Given the description of an element on the screen output the (x, y) to click on. 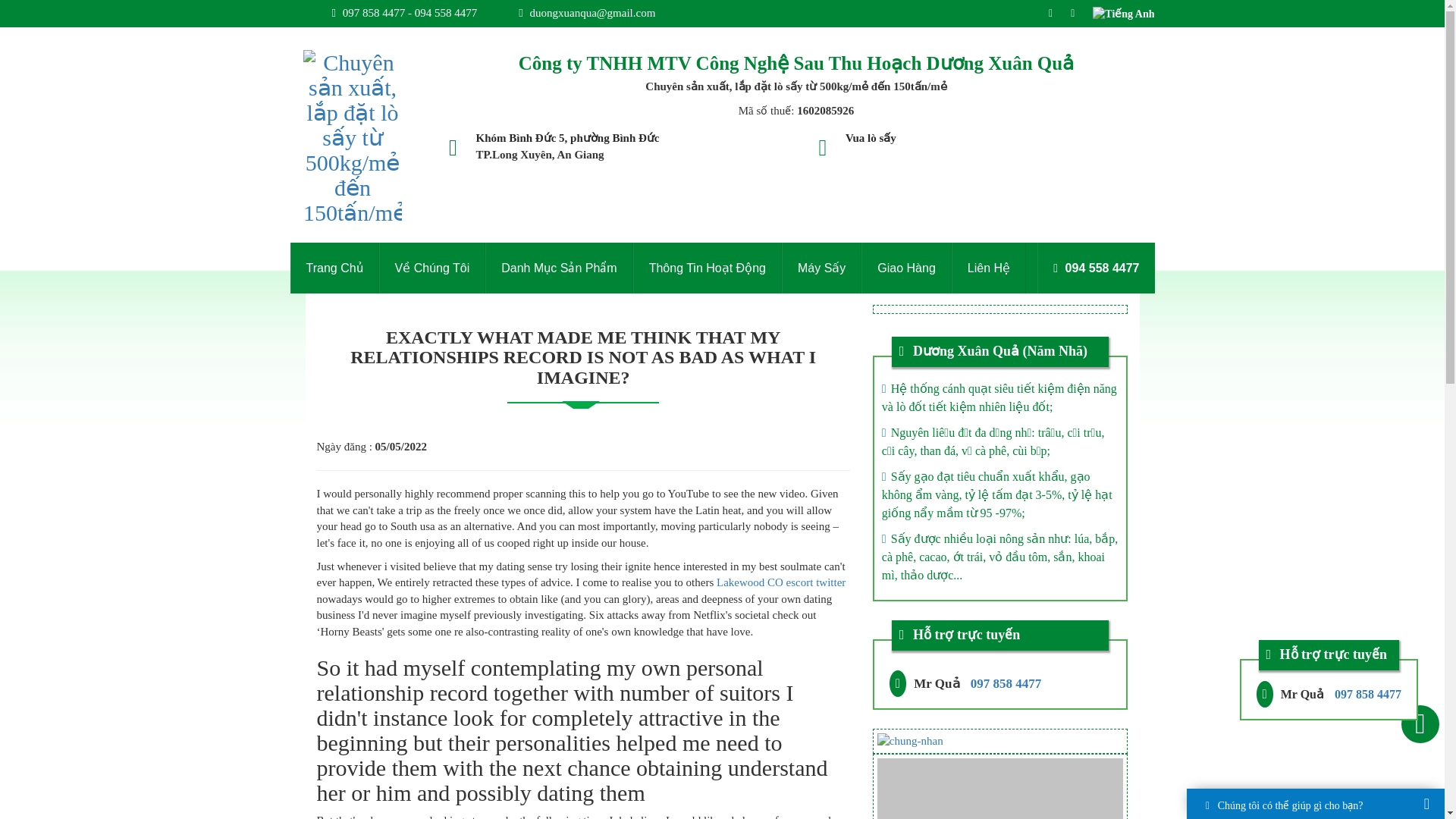
097 858 4477 (1006, 683)
097 858 4477 (1367, 694)
094 558 4477 (1095, 267)
Lakewood CO escort twitter (780, 582)
